Given the description of an element on the screen output the (x, y) to click on. 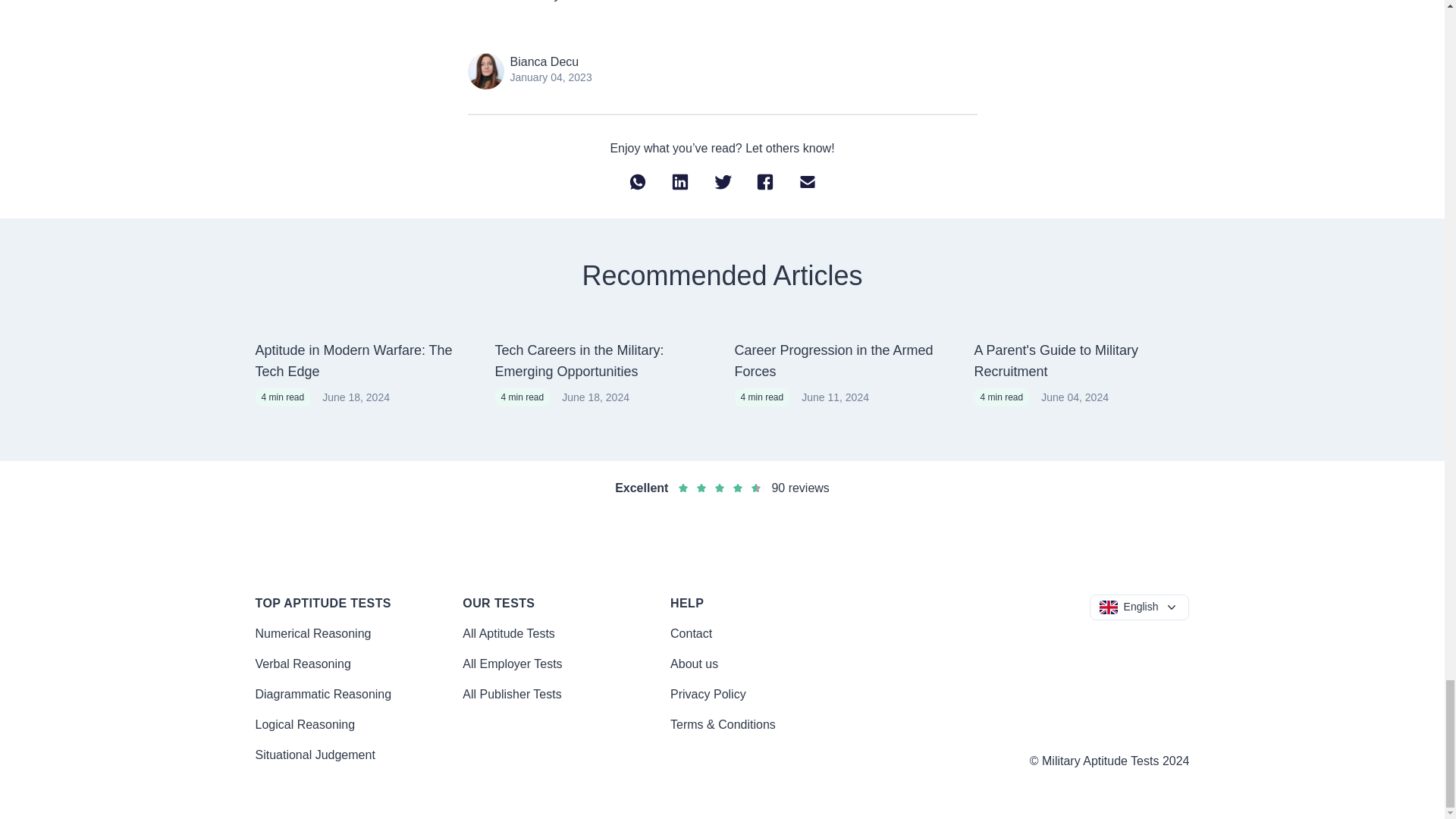
All Employer Tests (512, 663)
All Aptitude Tests (508, 633)
Privacy Policy (707, 694)
Logical Reasoning (304, 724)
About us (693, 663)
Situational Judgement (314, 754)
All Publisher Tests (511, 694)
